Given the description of an element on the screen output the (x, y) to click on. 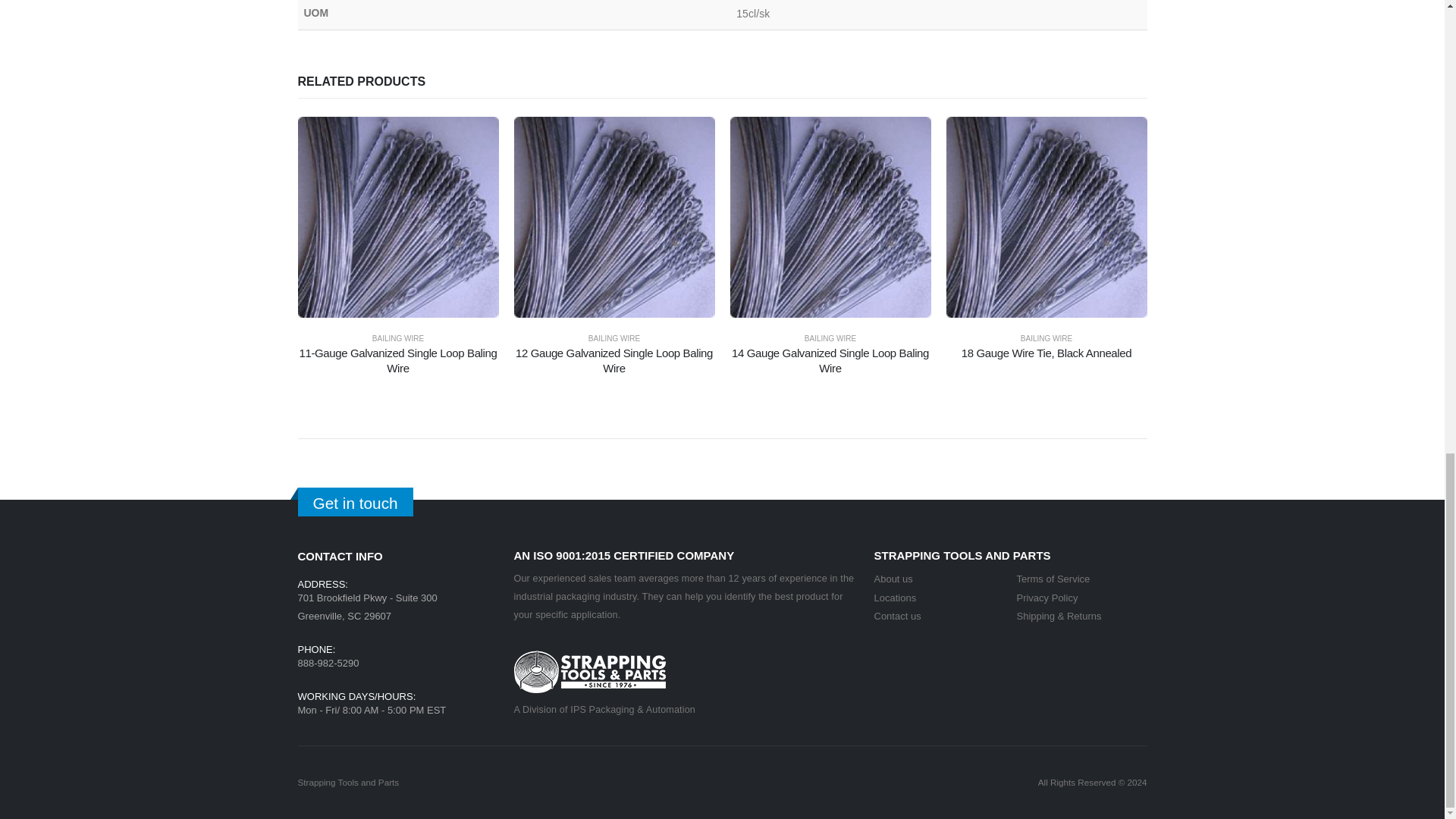
Contact us (896, 615)
About us (892, 578)
Locations (894, 597)
STP-logo-header (589, 671)
